Given the description of an element on the screen output the (x, y) to click on. 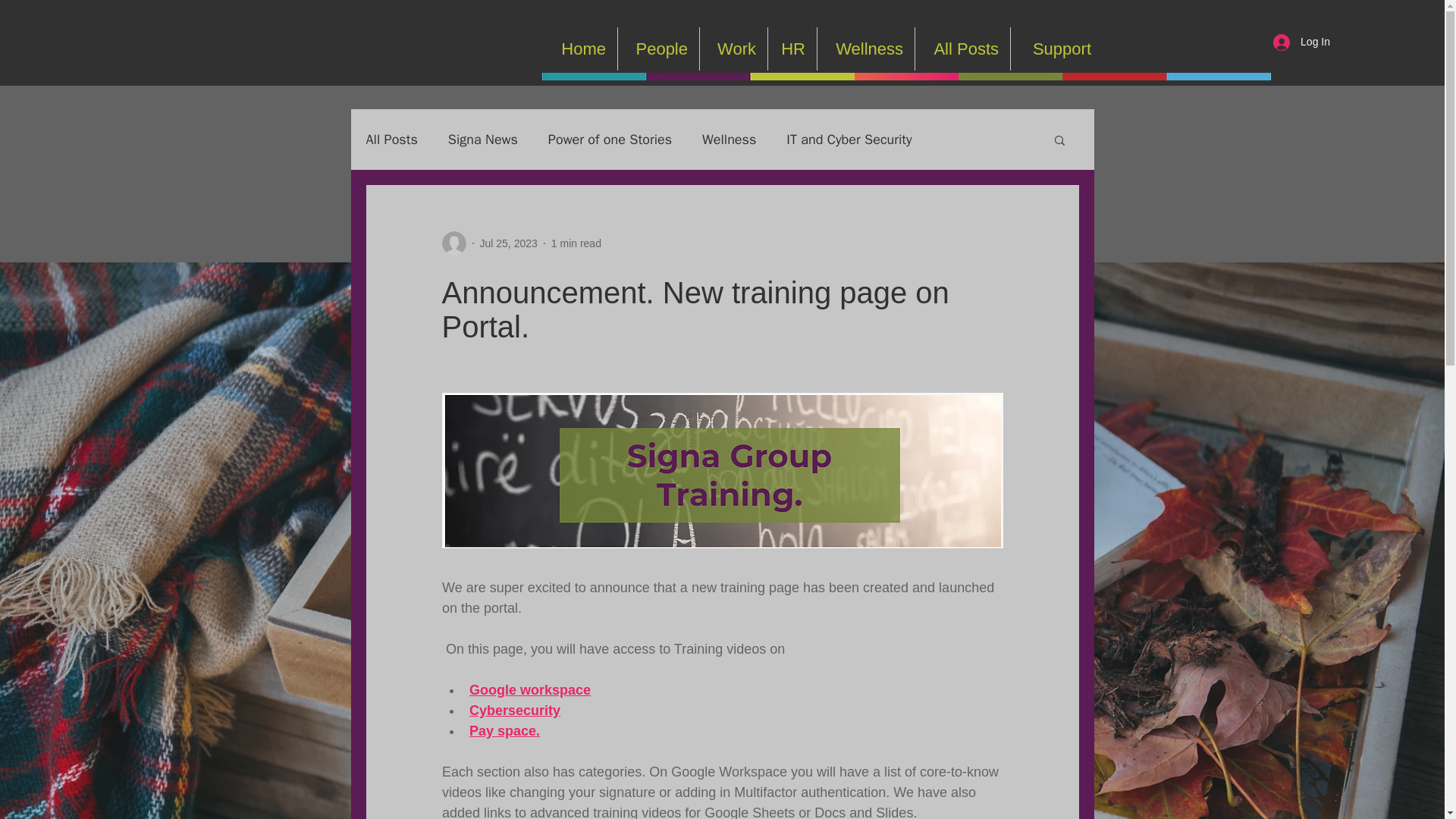
Power of one Stories (609, 139)
Jul 25, 2023 (508, 242)
Wellness (728, 139)
All Posts (390, 139)
1 min read (576, 242)
Signa News (483, 139)
All Posts (962, 48)
Log In (1301, 41)
Google workspace (528, 689)
Cybersecurity (513, 710)
Home (580, 48)
Support (1056, 48)
Pay space. (503, 730)
IT and Cyber Security (848, 139)
